Given the description of an element on the screen output the (x, y) to click on. 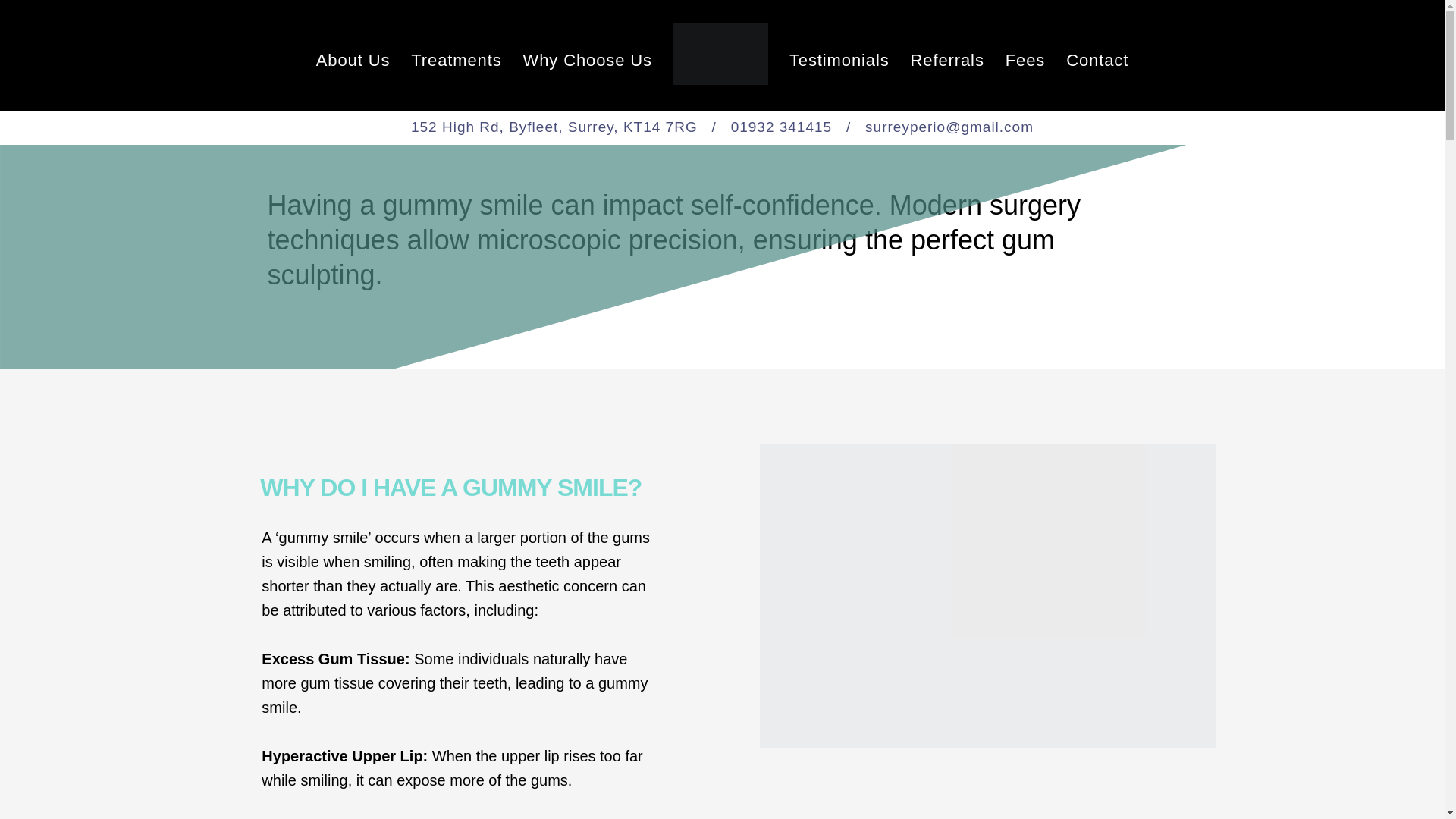
Testimonials (839, 60)
Treatments (455, 60)
About Us (352, 60)
Referrals (947, 60)
Contact (1096, 60)
Why Choose Us (587, 60)
